Given the description of an element on the screen output the (x, y) to click on. 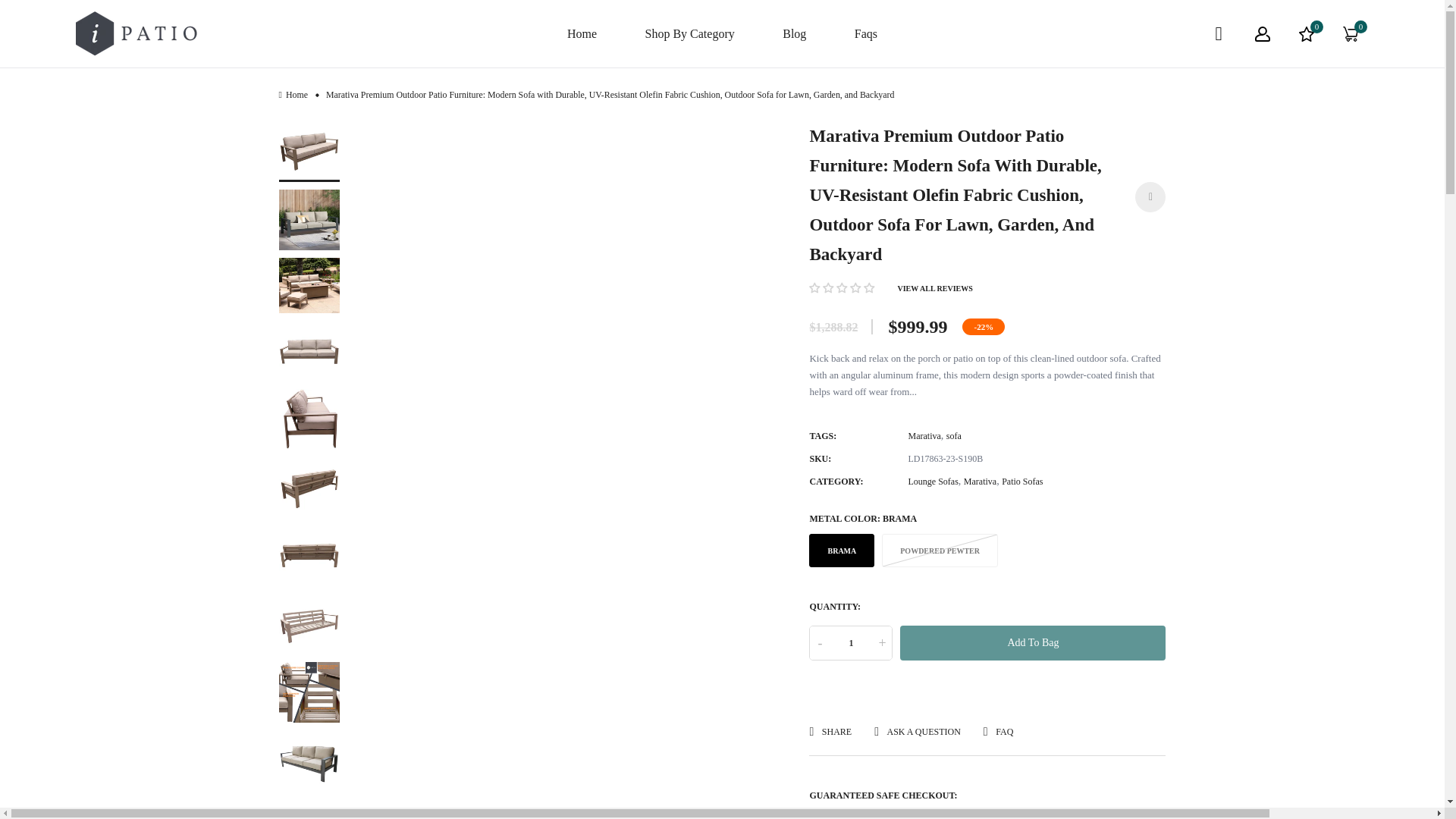
Shop By Category (690, 33)
Home (581, 33)
Patio Sofas (1021, 480)
Apple Pay (892, 814)
Meta Pay (1029, 814)
Blog (794, 33)
Lounge Sofas (932, 480)
Shop by Category (690, 33)
Blog (794, 33)
Discover (983, 814)
Home (581, 33)
1 (850, 643)
Diners Club (937, 814)
American Express (847, 814)
Wishlist (1306, 33)
